Given the description of an element on the screen output the (x, y) to click on. 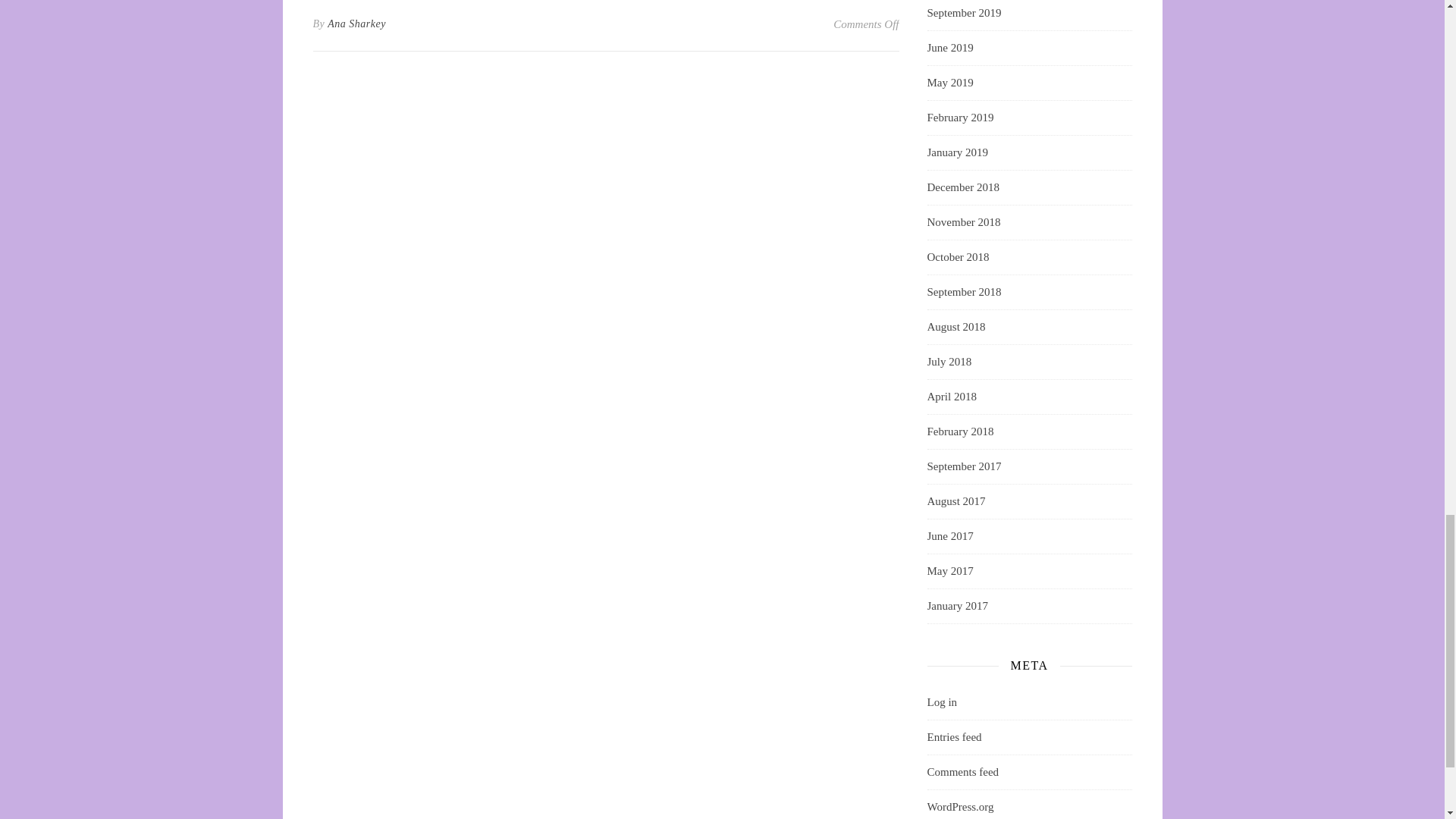
Posts by Ana Sharkey (356, 24)
Ana Sharkey (356, 24)
